Given the description of an element on the screen output the (x, y) to click on. 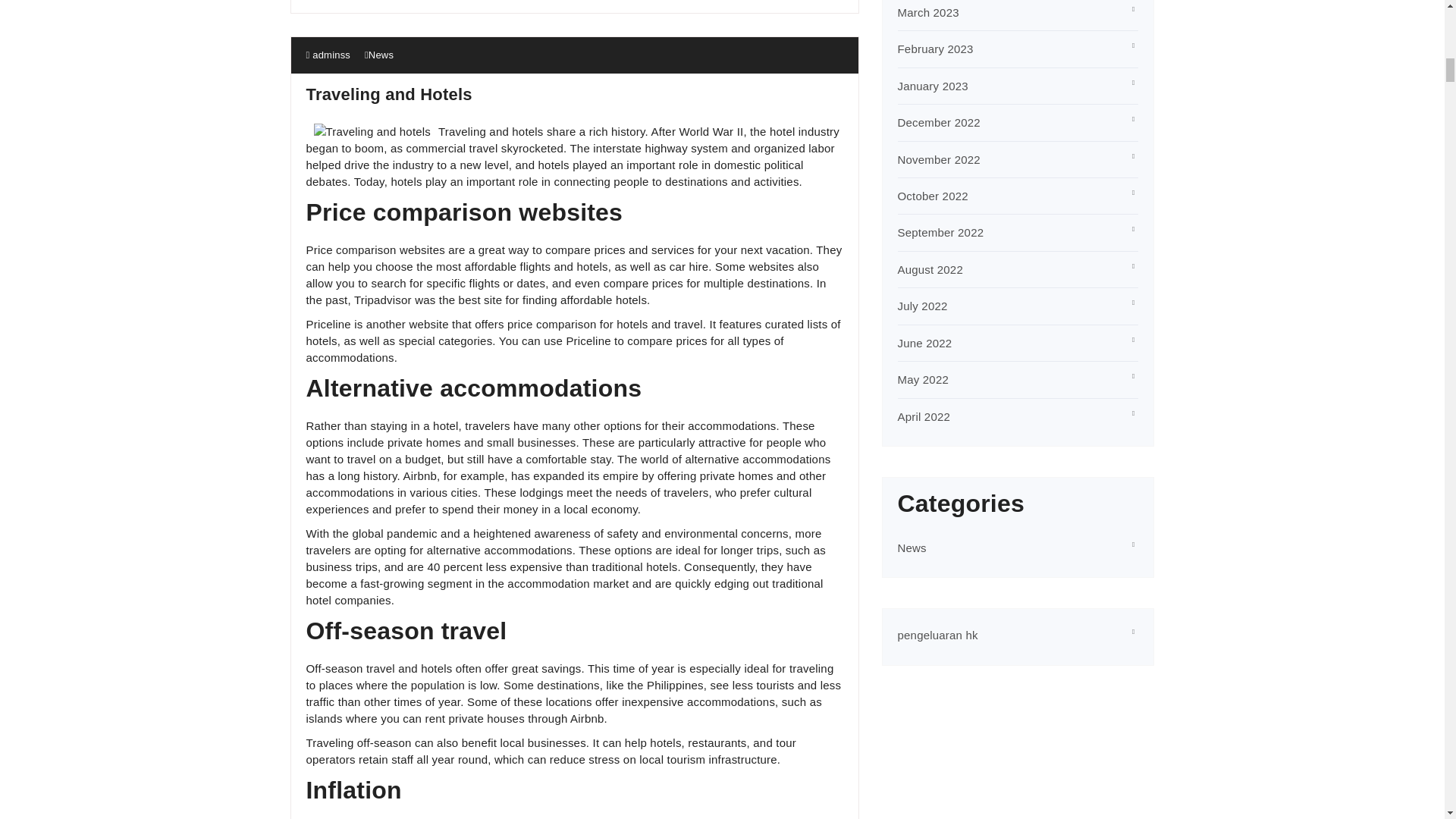
adminss (327, 54)
News (380, 54)
Traveling and Hotels (388, 94)
